Given the description of an element on the screen output the (x, y) to click on. 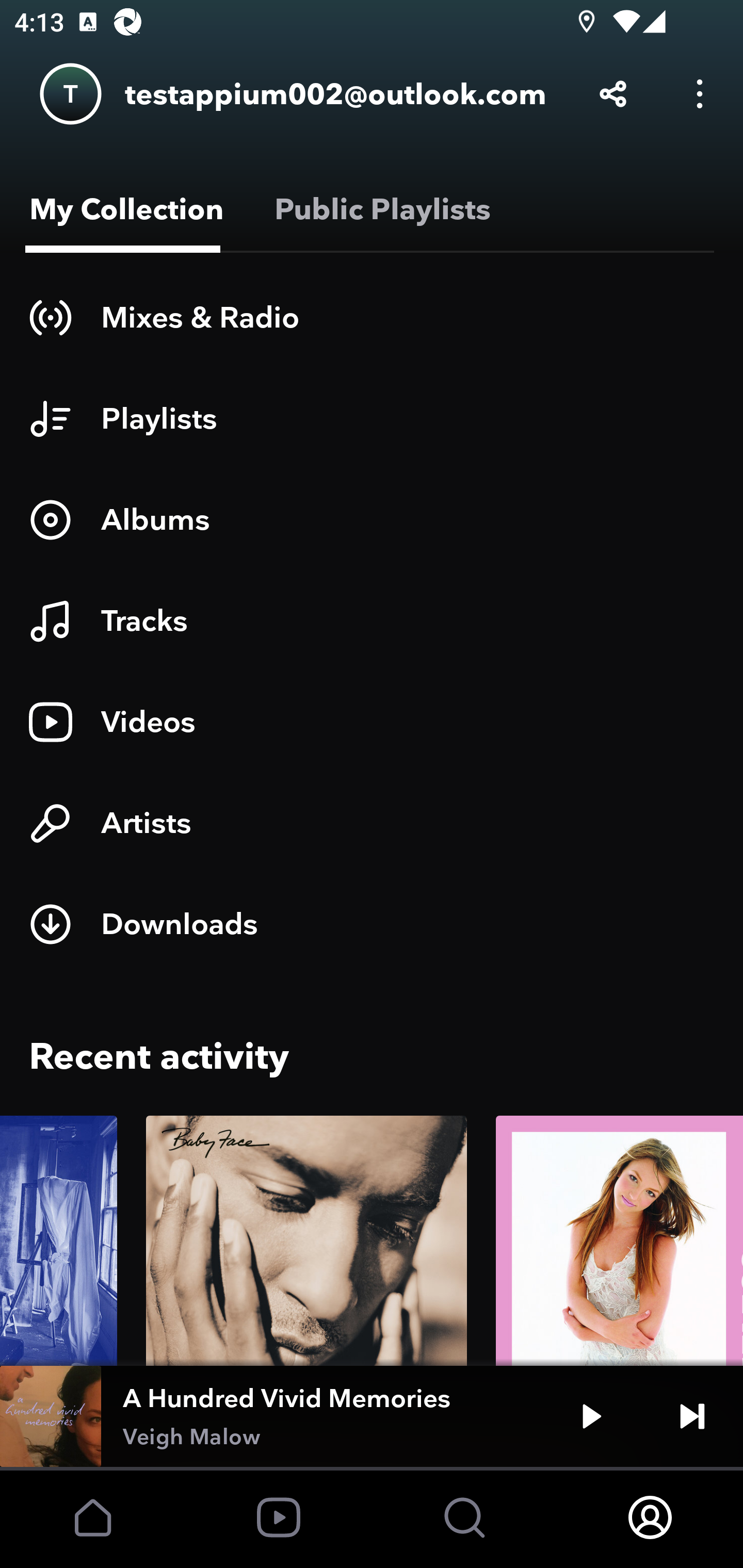
Share (612, 93)
Options (699, 93)
Public Playlists (378, 209)
Mixes & Radio (371, 317)
Playlists (371, 418)
Albums (371, 519)
Tracks (371, 620)
Videos (371, 722)
Artists (371, 823)
Downloads (371, 924)
A Hundred Vivid Memories Veigh Malow Play (371, 1416)
Play (590, 1416)
